Given the description of an element on the screen output the (x, y) to click on. 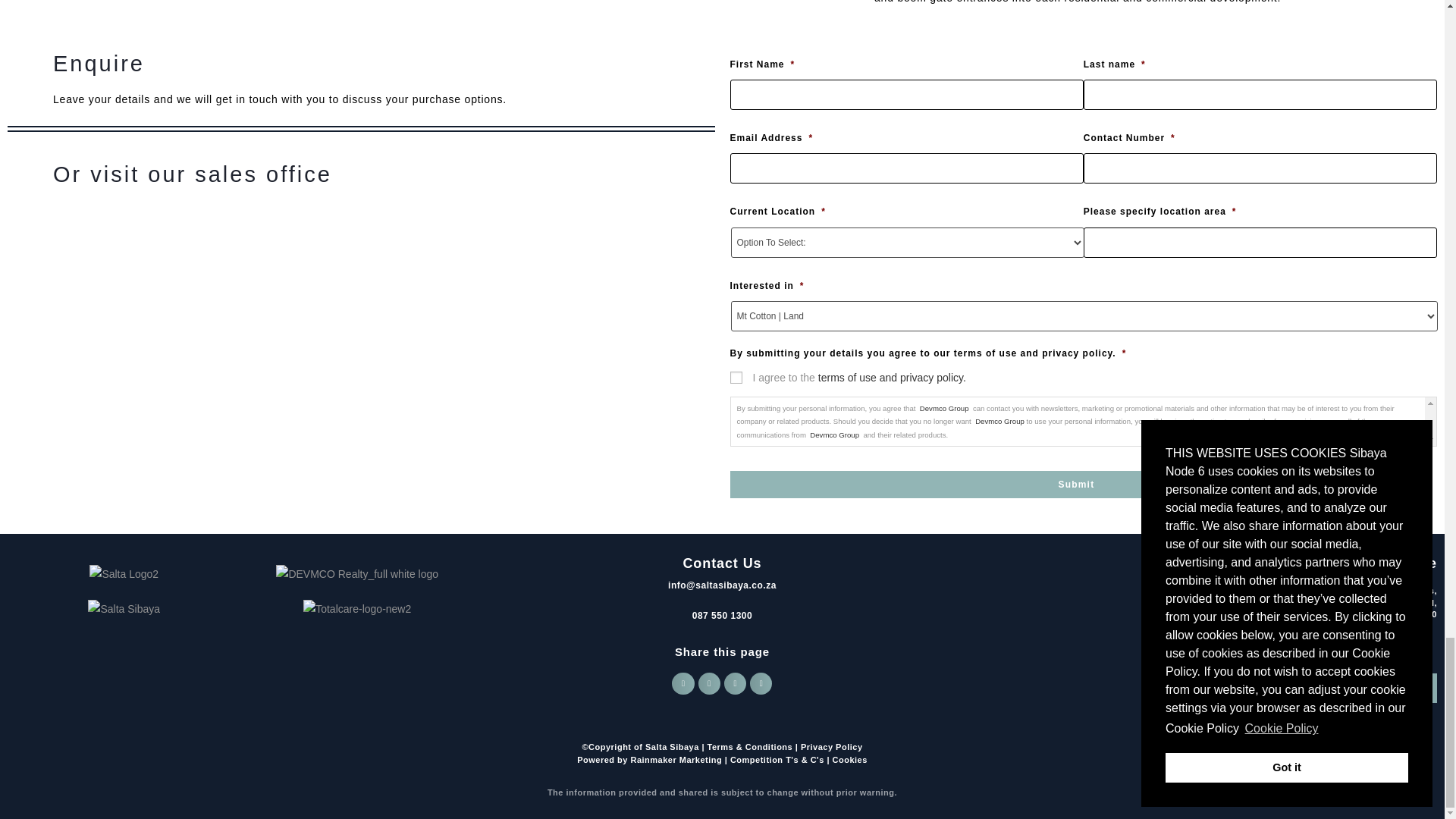
1 (735, 377)
Submit (1075, 483)
Submit (1075, 483)
Explore Salta (1363, 687)
Cookies (849, 759)
terms of use and privacy policy. (892, 377)
Devmco Group (834, 434)
Salta Logo2 (123, 574)
Devmco Group (999, 420)
Devmco Group (944, 408)
Totalcare-logo-new2 (356, 609)
087 550 1300 (722, 615)
Privacy Policy (831, 746)
